Given the description of an element on the screen output the (x, y) to click on. 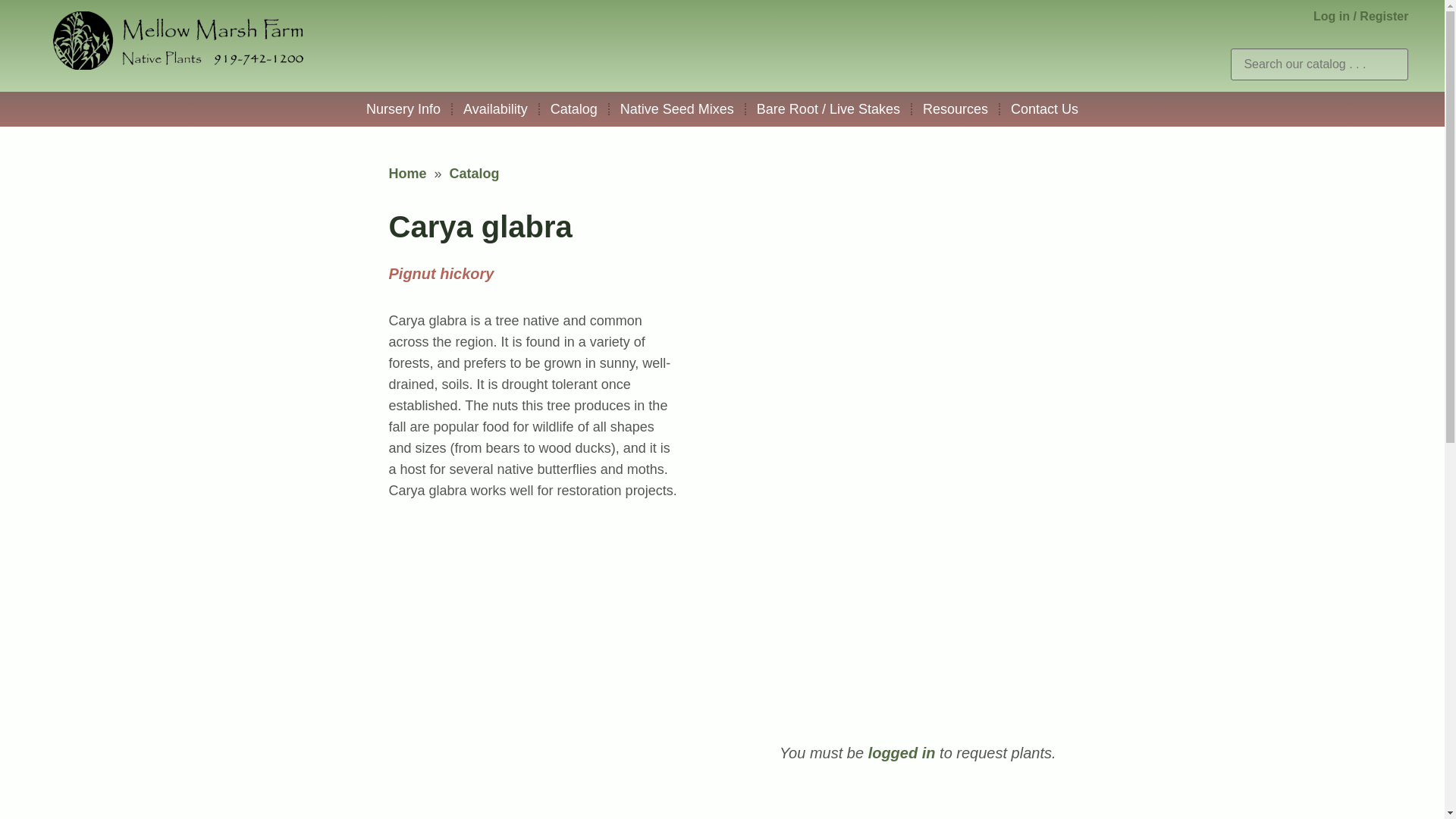
Contact Us (1044, 108)
Native Seed Mixes (677, 108)
Home (407, 173)
Catalog (474, 173)
Catalog (574, 108)
Availability (495, 108)
Search field for plant catalog (1318, 64)
logged in (901, 752)
Nursery Info (403, 108)
Resources (955, 108)
